Given the description of an element on the screen output the (x, y) to click on. 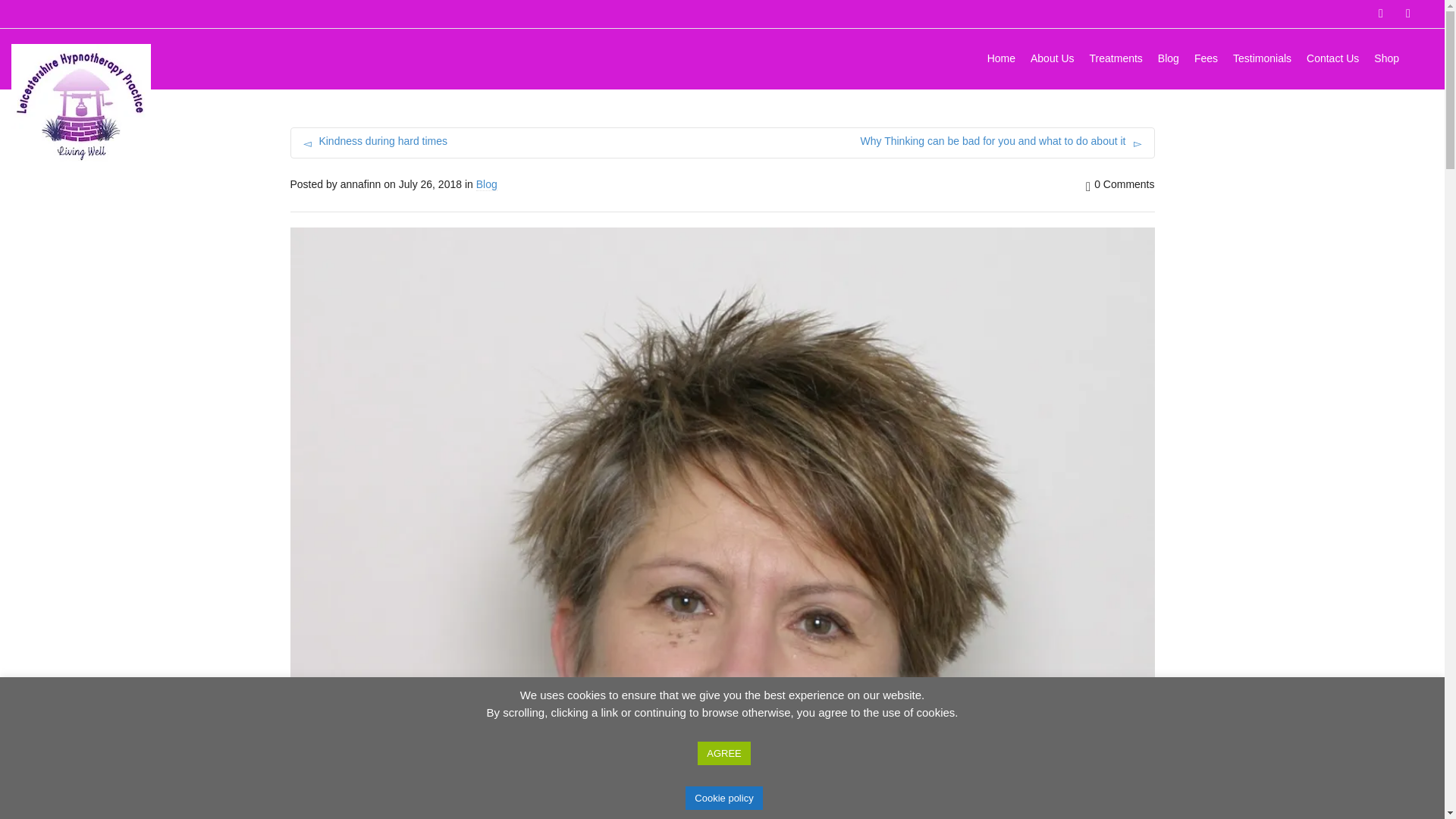
About Us (1052, 60)
Treatments (1115, 60)
Hypnotherapy Treatments (1115, 60)
